Given the description of an element on the screen output the (x, y) to click on. 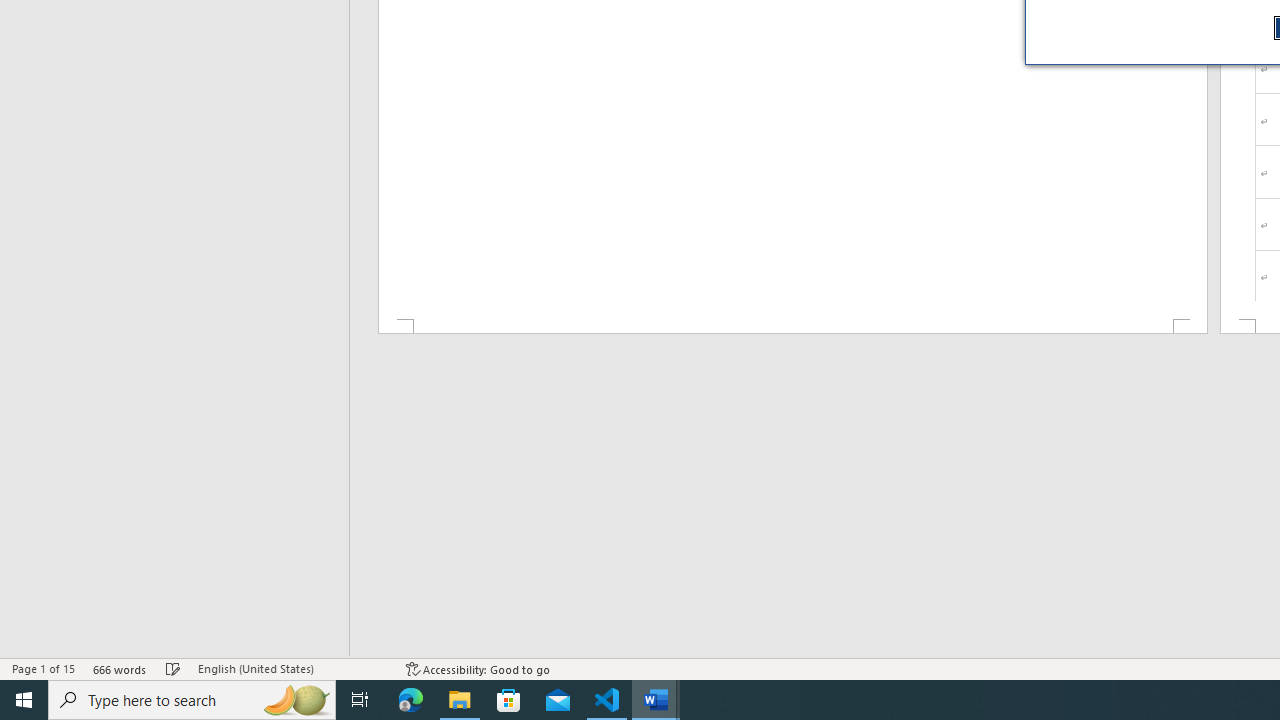
Spelling and Grammar Check Checking (173, 668)
Page Number Page 1 of 15 (43, 668)
Footer -Section 1- (792, 326)
Accessibility Checker Accessibility: Good to go (478, 668)
Microsoft Store (509, 699)
File Explorer - 1 running window (460, 699)
Start (24, 699)
Word - 2 running windows (656, 699)
Microsoft Edge (411, 699)
Task View (359, 699)
Type here to search (191, 699)
Search highlights icon opens search home window (295, 699)
Visual Studio Code - 1 running window (607, 699)
Word Count 666 words (119, 668)
